Given the description of an element on the screen output the (x, y) to click on. 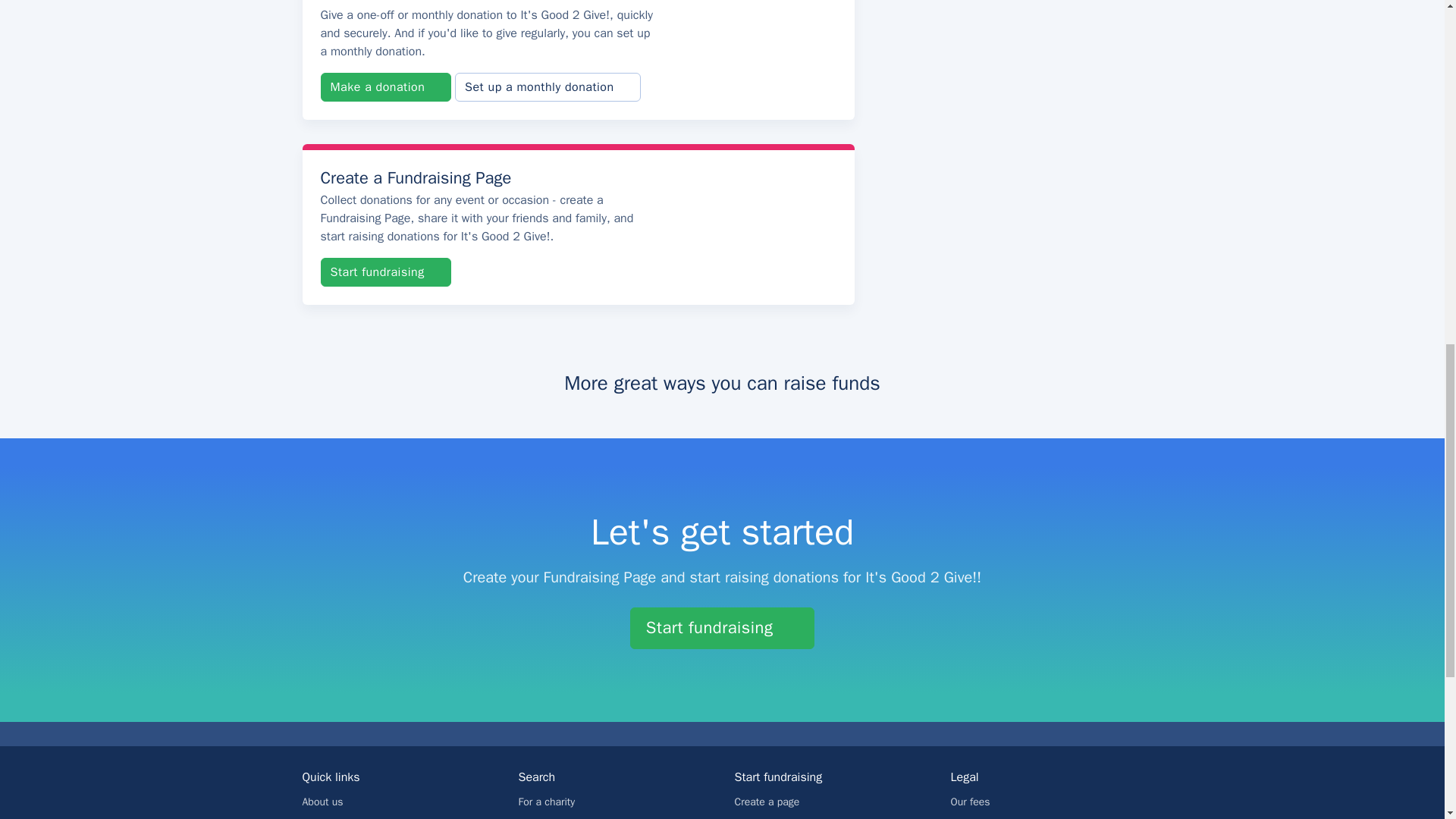
Set up a monthly donation (547, 86)
Start fundraising (384, 271)
Make a donation (385, 86)
